Given the description of an element on the screen output the (x, y) to click on. 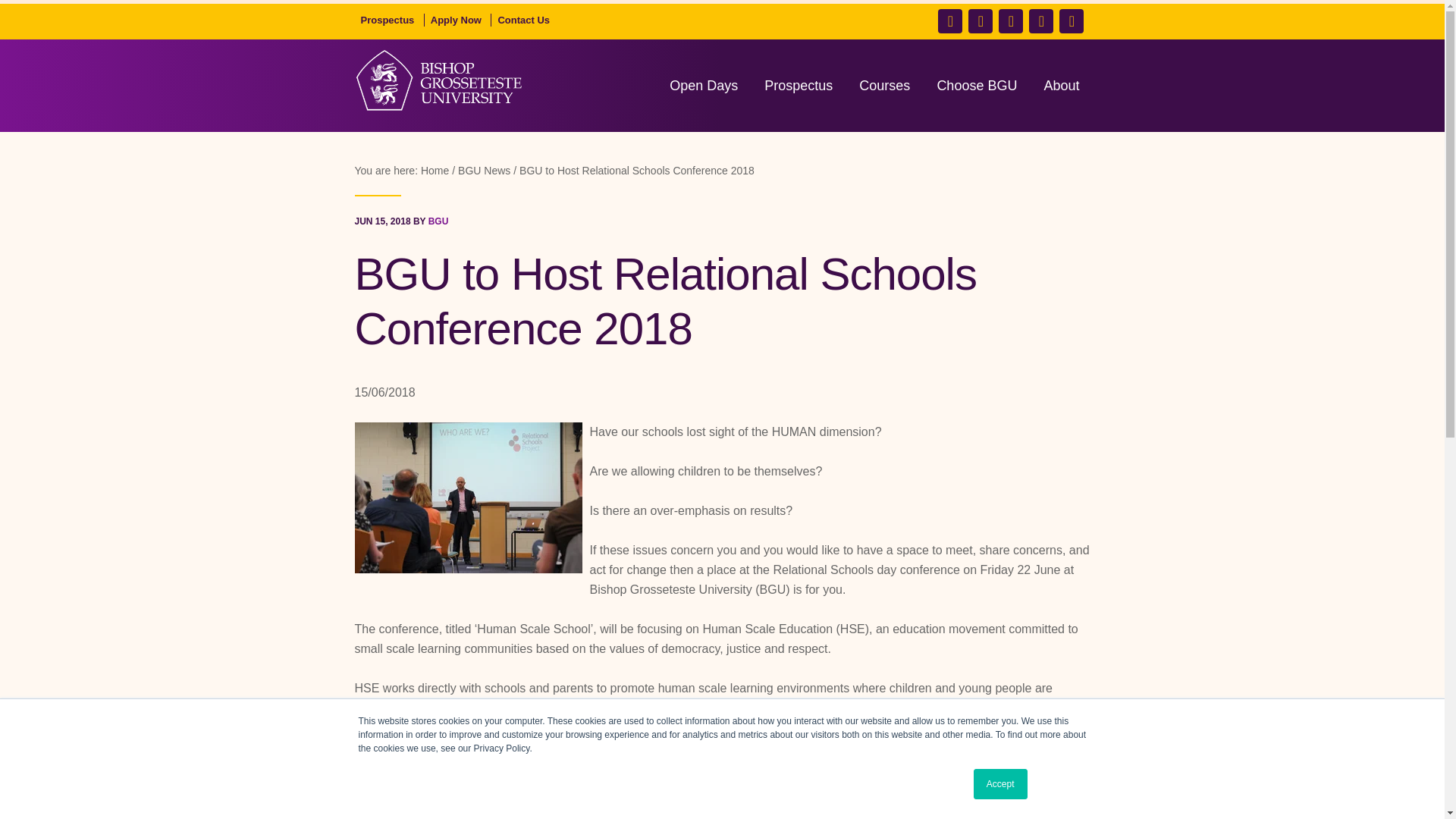
tiktok (1071, 21)
BGU News (487, 170)
Contact Us (523, 19)
Prospectus (387, 19)
Choose BGU (976, 85)
facebook (949, 21)
linkedin (1040, 21)
Home (437, 170)
twitter (980, 21)
About (1060, 85)
instagram (1010, 21)
BGU (438, 221)
Apply Now (455, 19)
Accept (1000, 784)
Courses (884, 85)
